Given the description of an element on the screen output the (x, y) to click on. 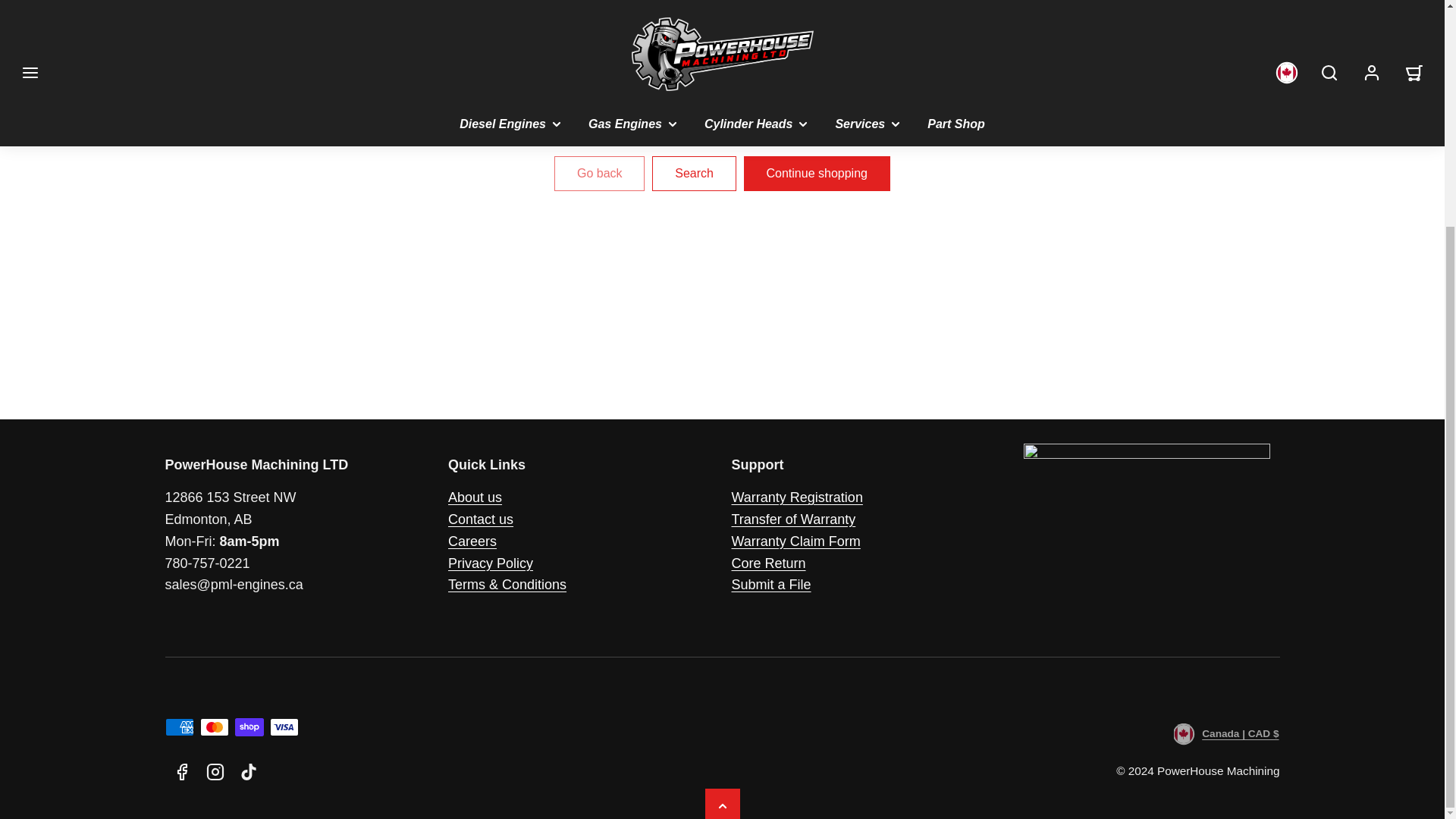
Shop Pay (248, 727)
Mastercard (214, 727)
American Express (179, 727)
Visa (283, 727)
